Given the description of an element on the screen output the (x, y) to click on. 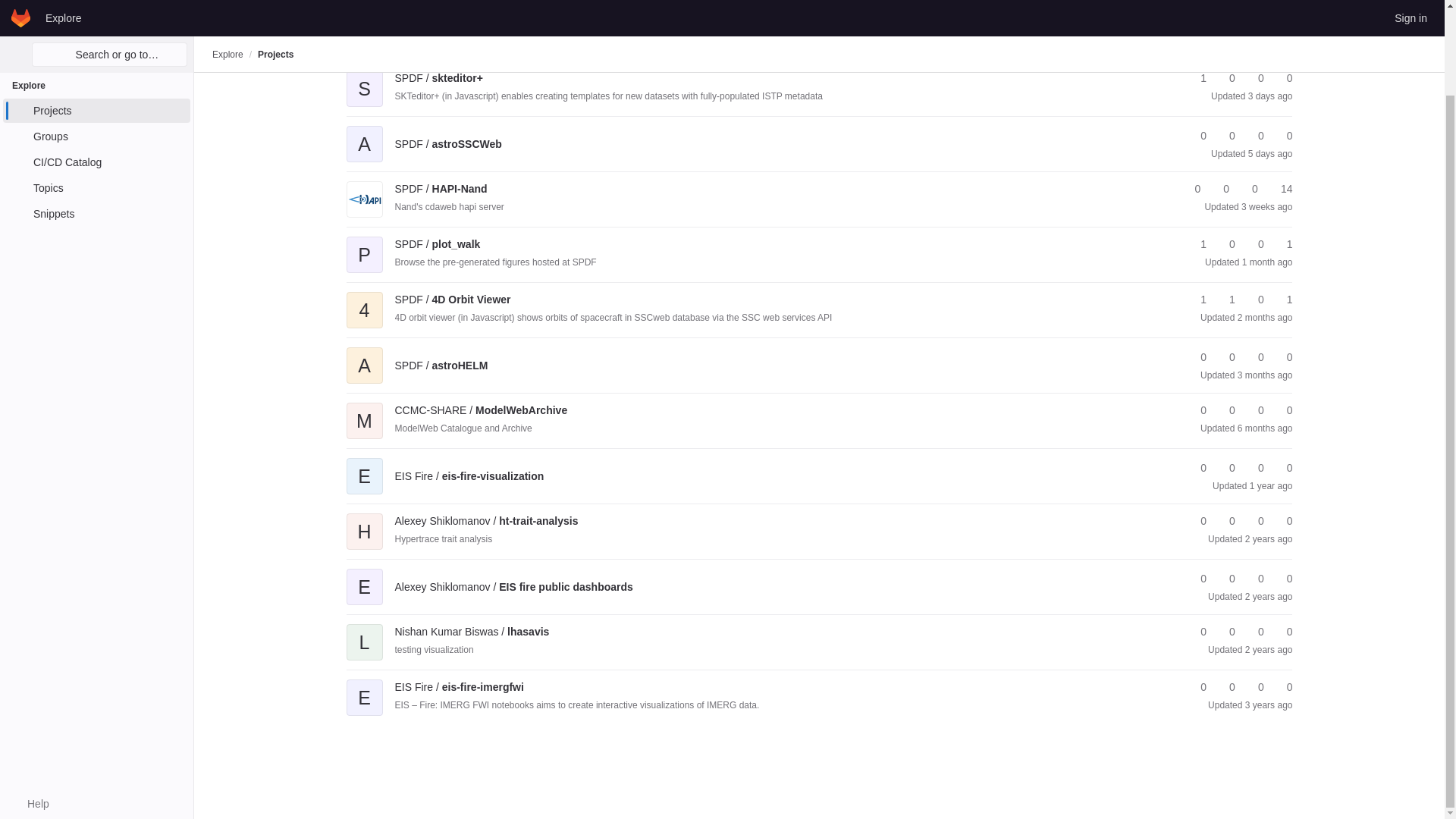
Topics (96, 90)
Merge requests (1253, 135)
Trending (484, 39)
Help (30, 706)
Projects (96, 13)
Groups (96, 39)
Stars (1196, 78)
astroSSCWeb (447, 143)
HTML (1103, 39)
Issues (1282, 78)
